Given the description of an element on the screen output the (x, y) to click on. 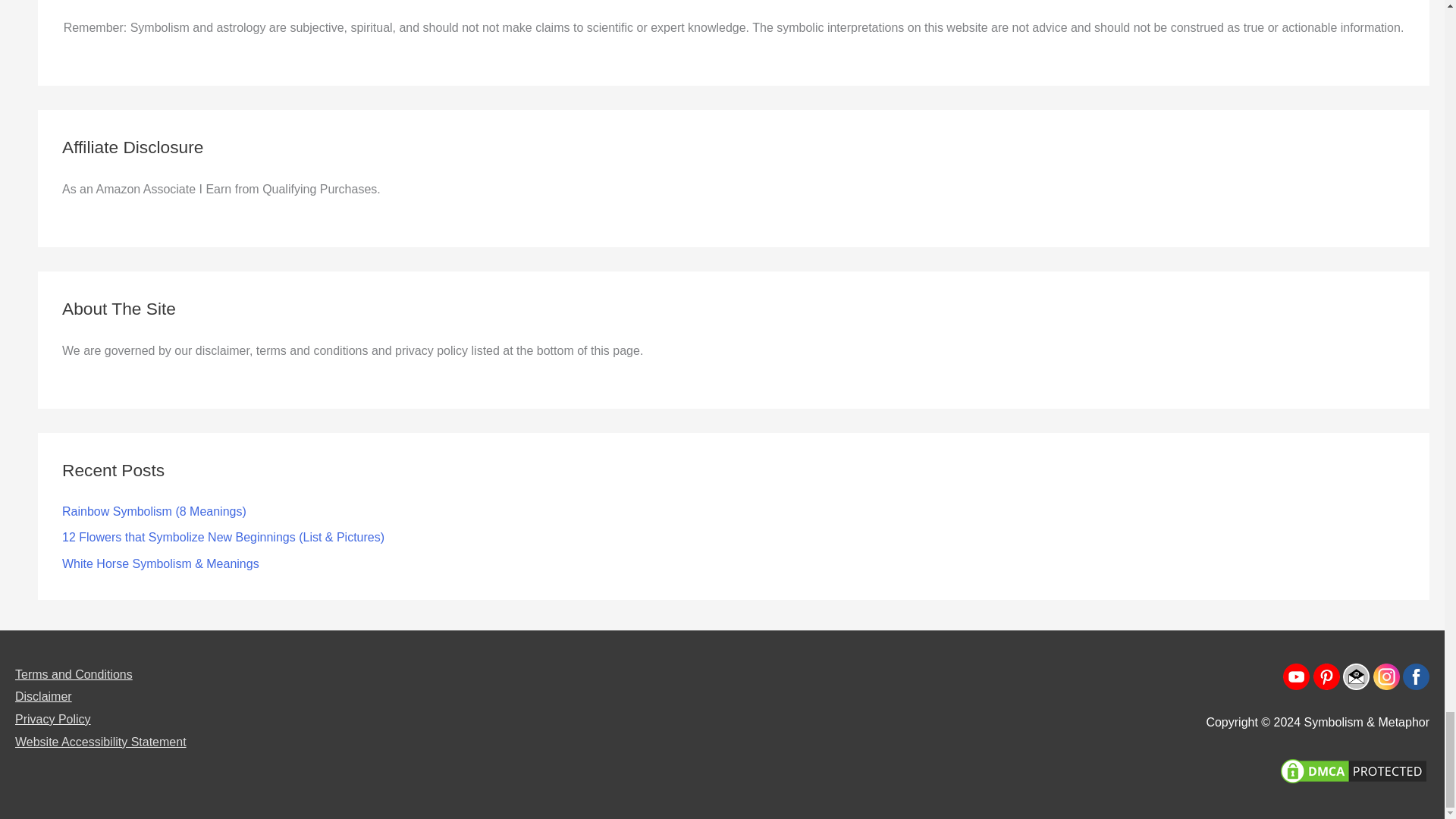
Disclaimer (42, 696)
Privacy Policy (52, 718)
DMCA.com Protection Status (1353, 769)
Terms and Conditions (73, 674)
Website Accessibility Statement (100, 741)
